Given the description of an element on the screen output the (x, y) to click on. 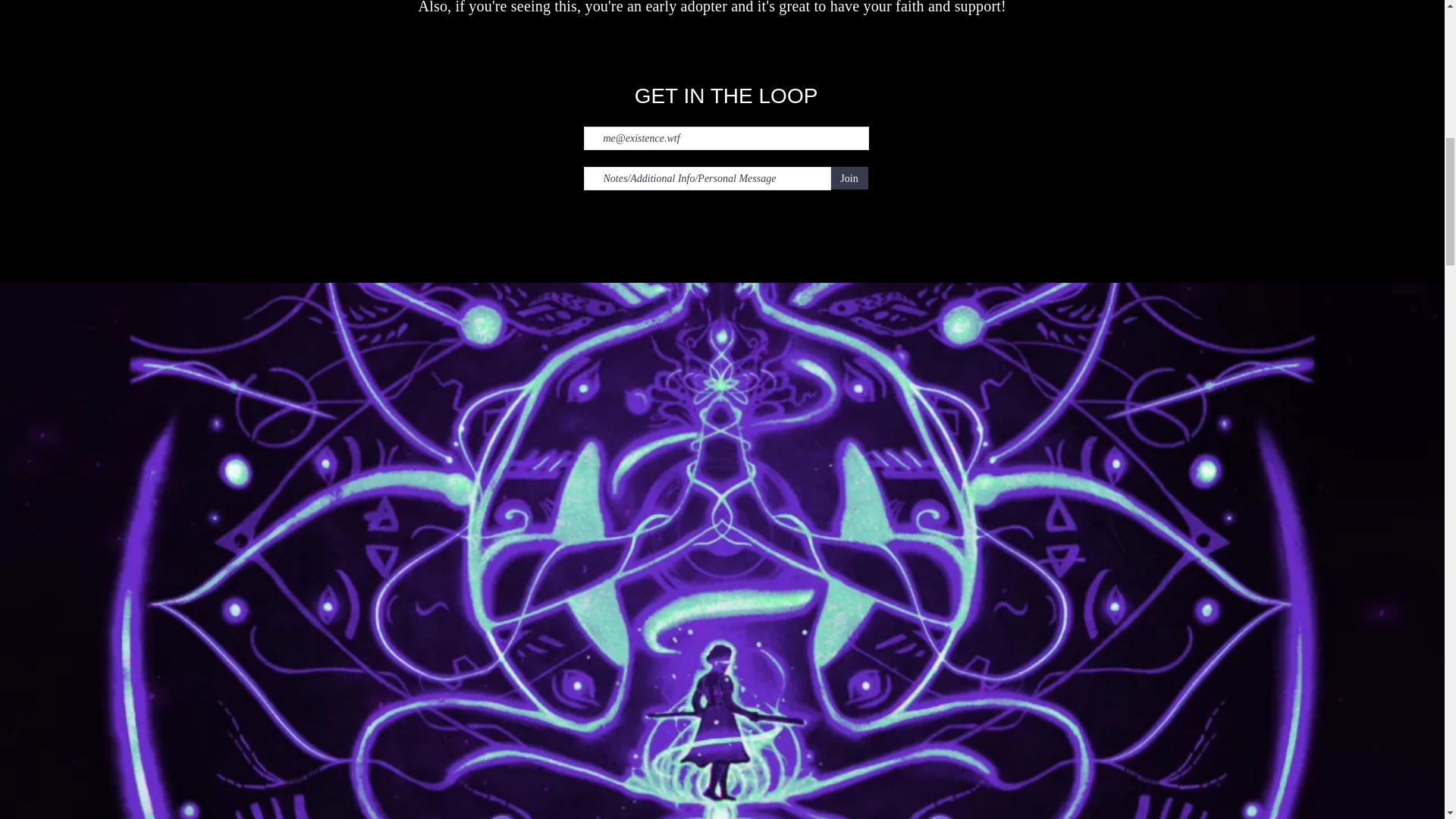
Join (849, 178)
